Given the description of an element on the screen output the (x, y) to click on. 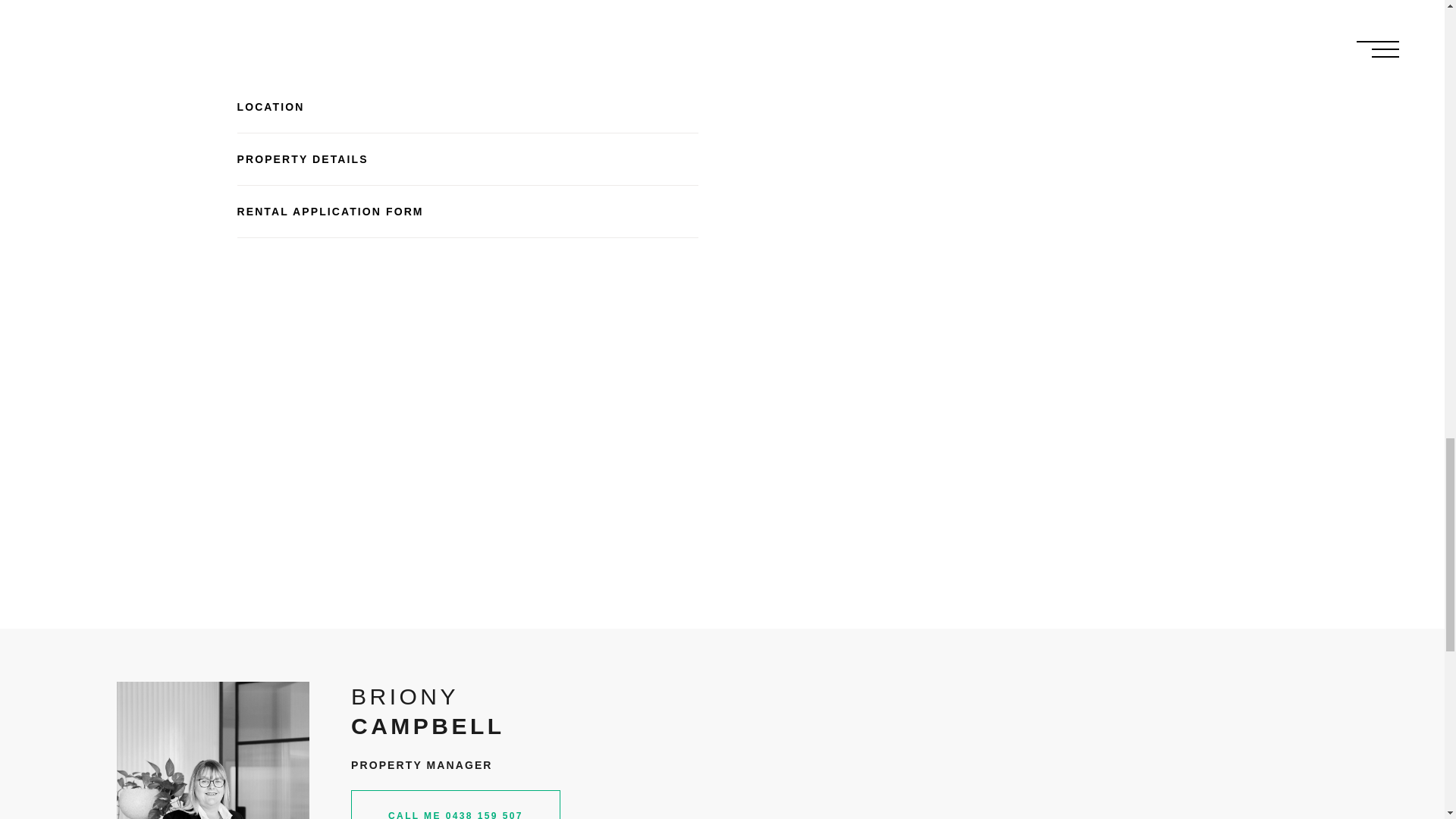
PROPERTY MANAGER (455, 719)
CALL ME 0438 159 507 (455, 774)
